Given the description of an element on the screen output the (x, y) to click on. 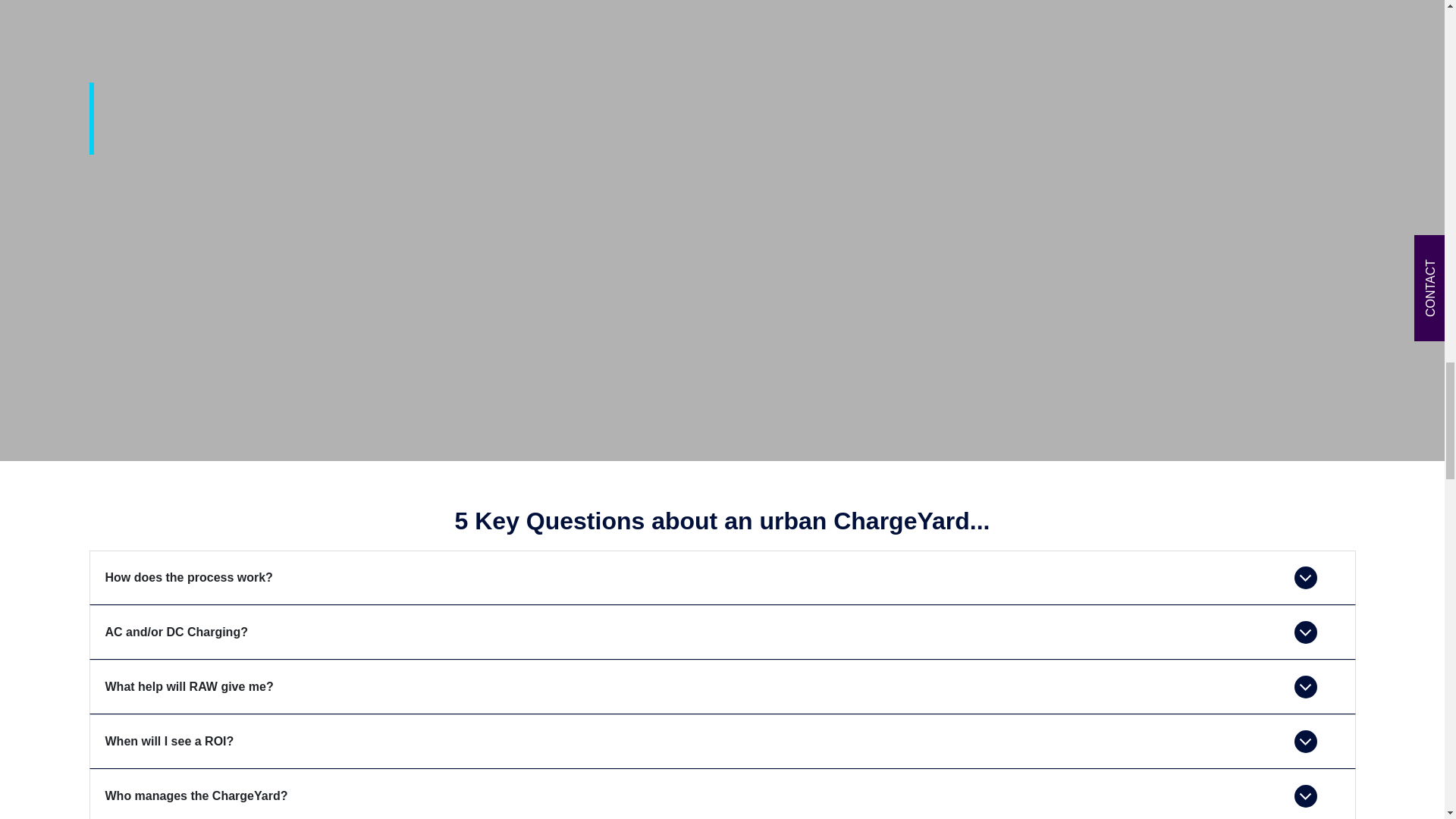
What help will RAW give me? (721, 687)
How does the process work? (721, 577)
Who manages the ChargeYard? (721, 794)
When will I see a ROI? (721, 741)
